Given the description of an element on the screen output the (x, y) to click on. 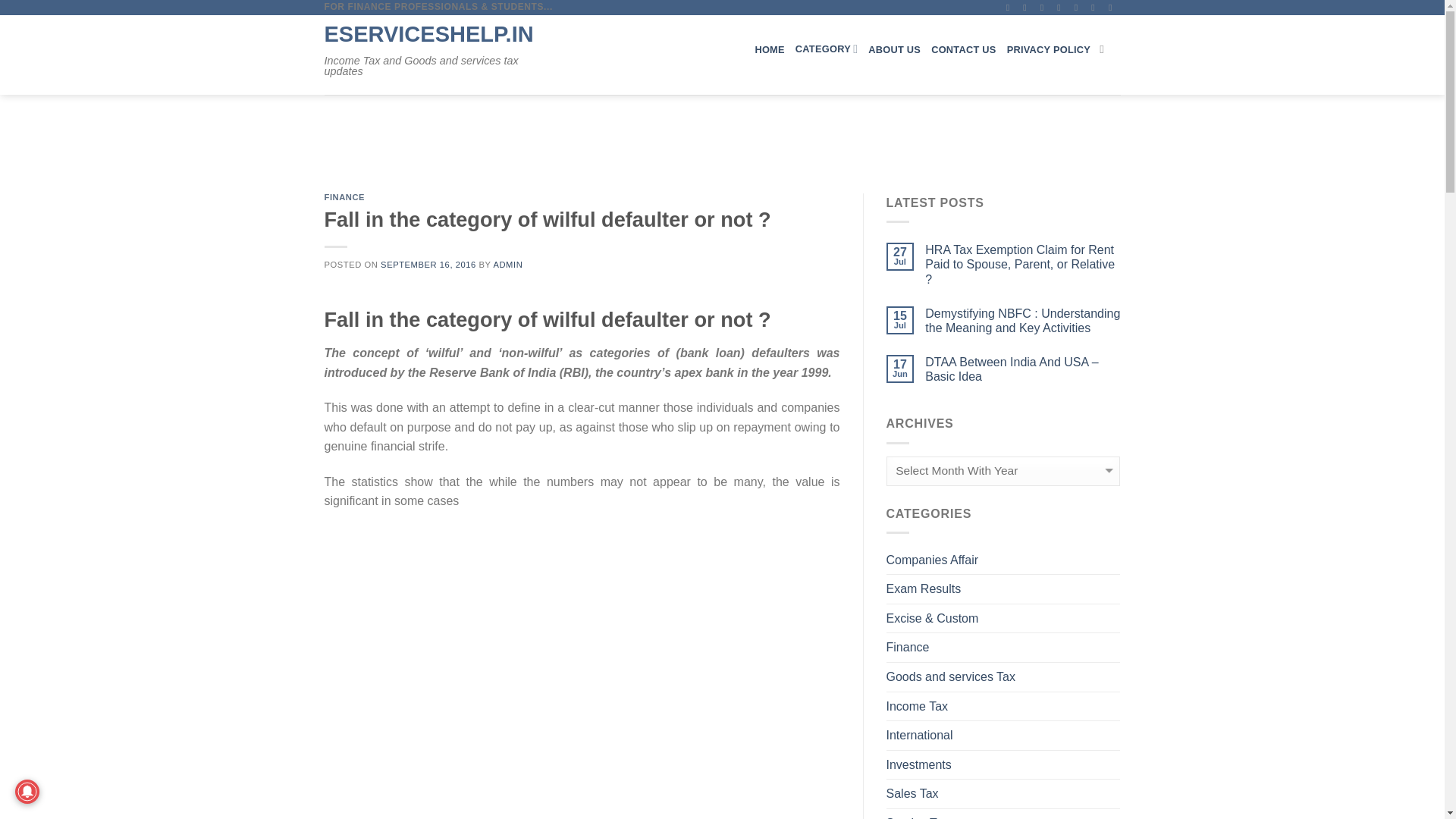
PRIVACY POLICY (1048, 48)
ADMIN (507, 264)
HOME (769, 48)
CONTACT US (963, 48)
CATEGORY (825, 48)
SEPTEMBER 16, 2016 (428, 264)
ESERVICESHELP.IN (436, 34)
ABOUT US (893, 48)
Category (825, 48)
Home (769, 48)
FINANCE (344, 196)
